Given the description of an element on the screen output the (x, y) to click on. 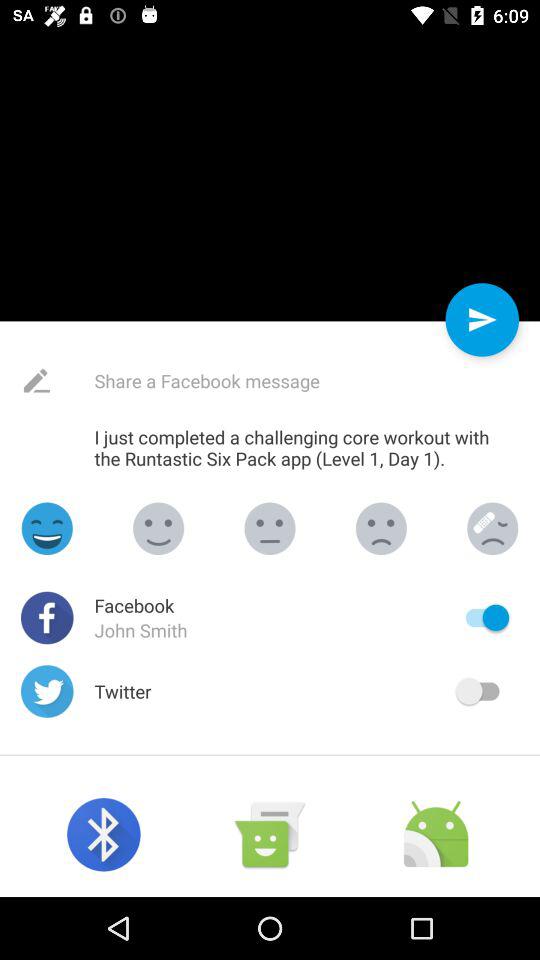
toggle sharing with facebook (482, 617)
